Given the description of an element on the screen output the (x, y) to click on. 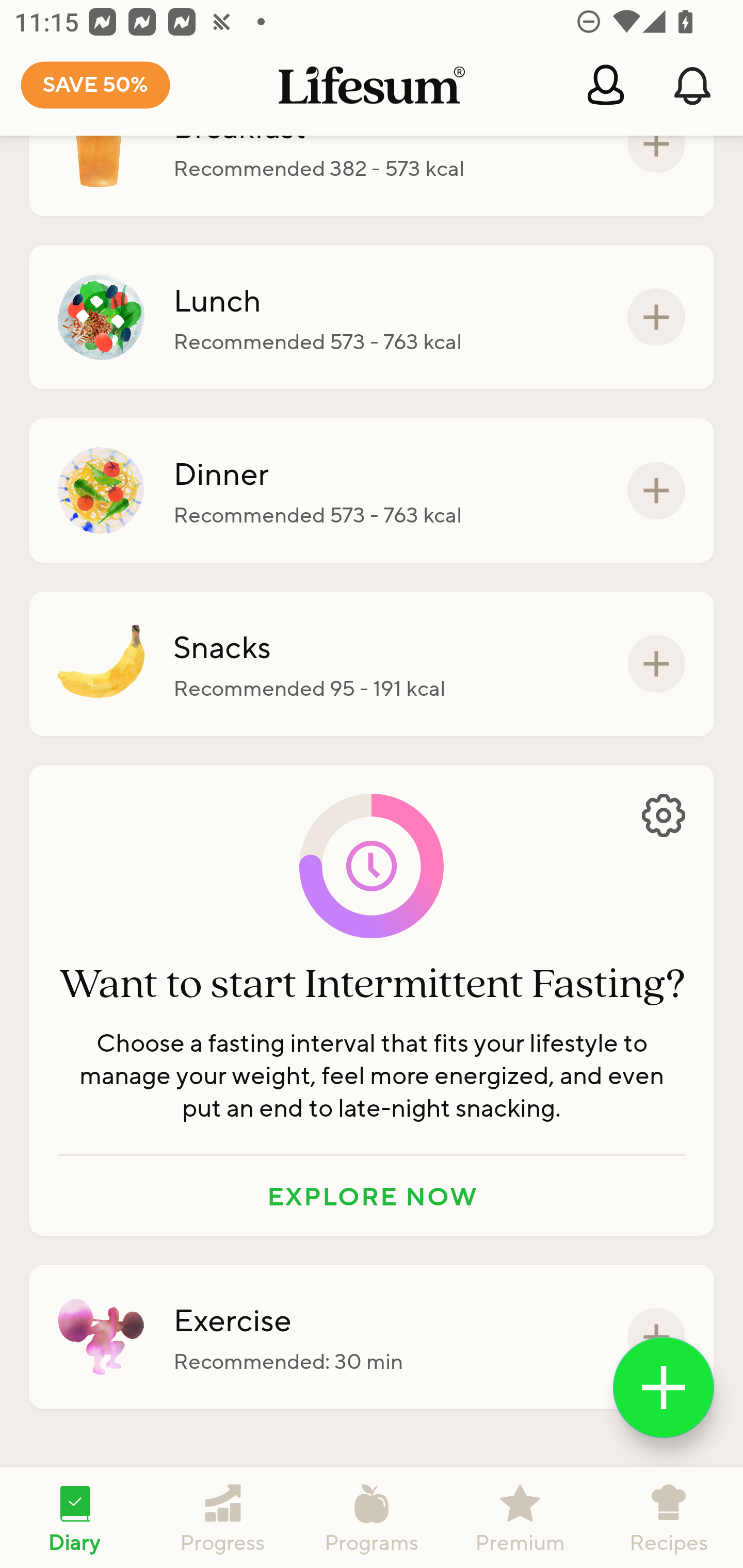
Lunch Recommended 573 - 763 kcal (371, 316)
Dinner Recommended 573 - 763 kcal (371, 490)
Snacks Recommended 95 - 191 kcal (371, 663)
EXPLORE NOW (371, 1195)
Exercise Recommended: 30 min (371, 1337)
Progress (222, 1517)
Programs (371, 1517)
Premium (519, 1517)
Recipes (668, 1517)
